Given the description of an element on the screen output the (x, y) to click on. 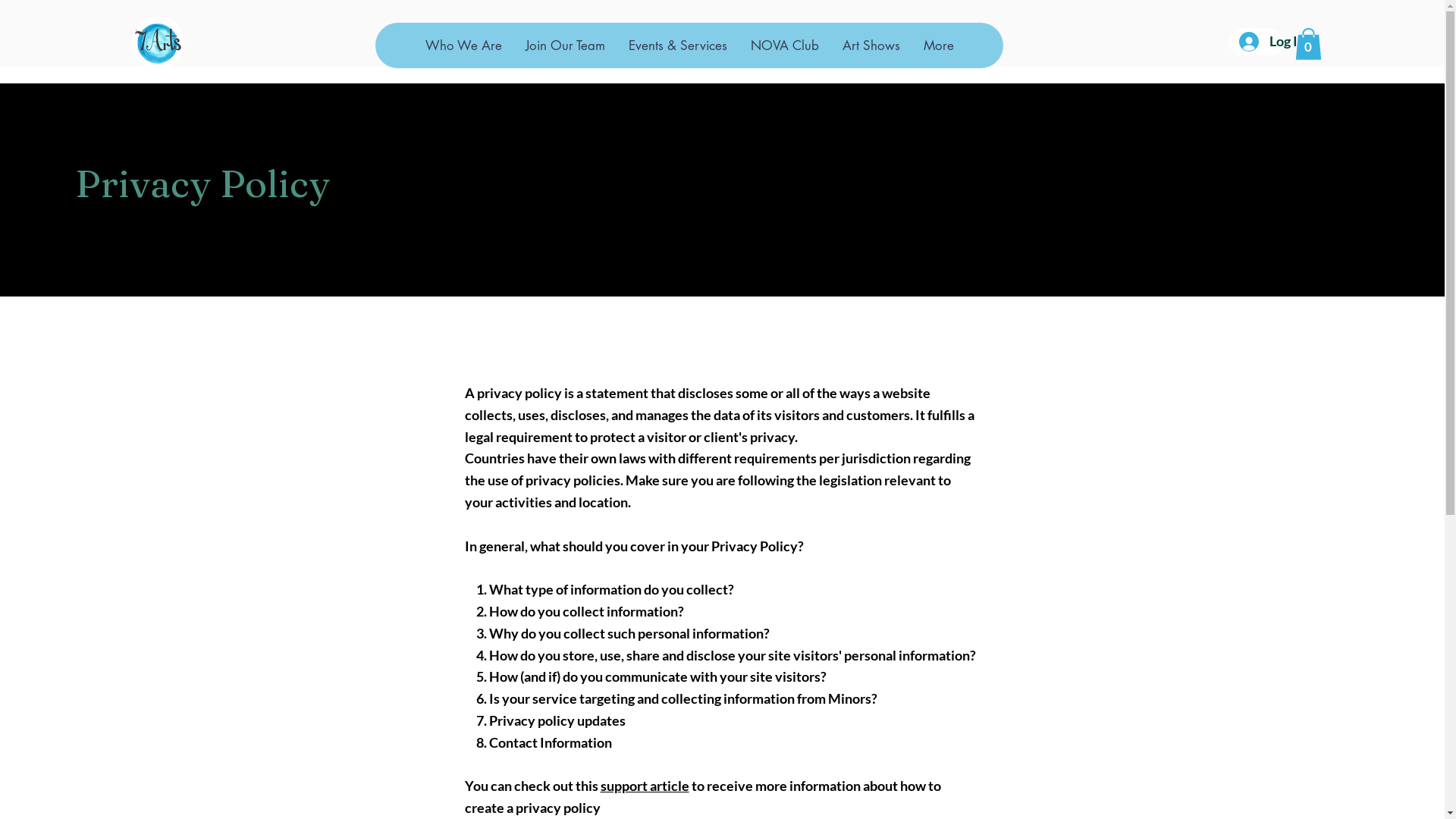
support article Element type: text (644, 785)
Log In Element type: text (1255, 41)
0 Element type: text (1308, 43)
